Given the description of an element on the screen output the (x, y) to click on. 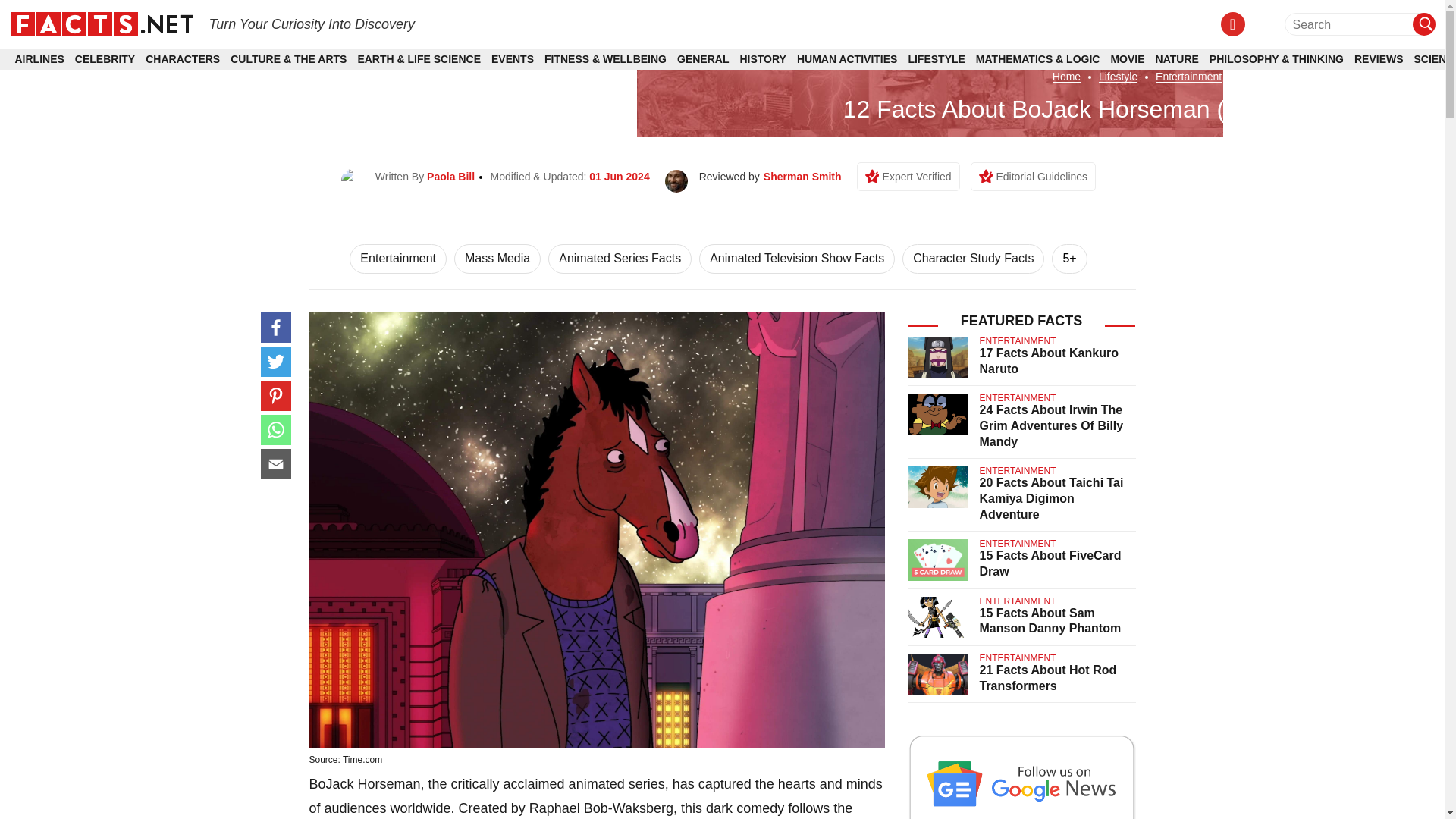
EVENTS (513, 59)
HISTORY (762, 59)
CHARACTERS (182, 59)
GENERAL (703, 59)
HUMAN ACTIVITIES (846, 59)
LIFESTYLE (935, 59)
Facts.net (100, 23)
CELEBRITY (105, 59)
AIRLINES (39, 59)
